Given the description of an element on the screen output the (x, y) to click on. 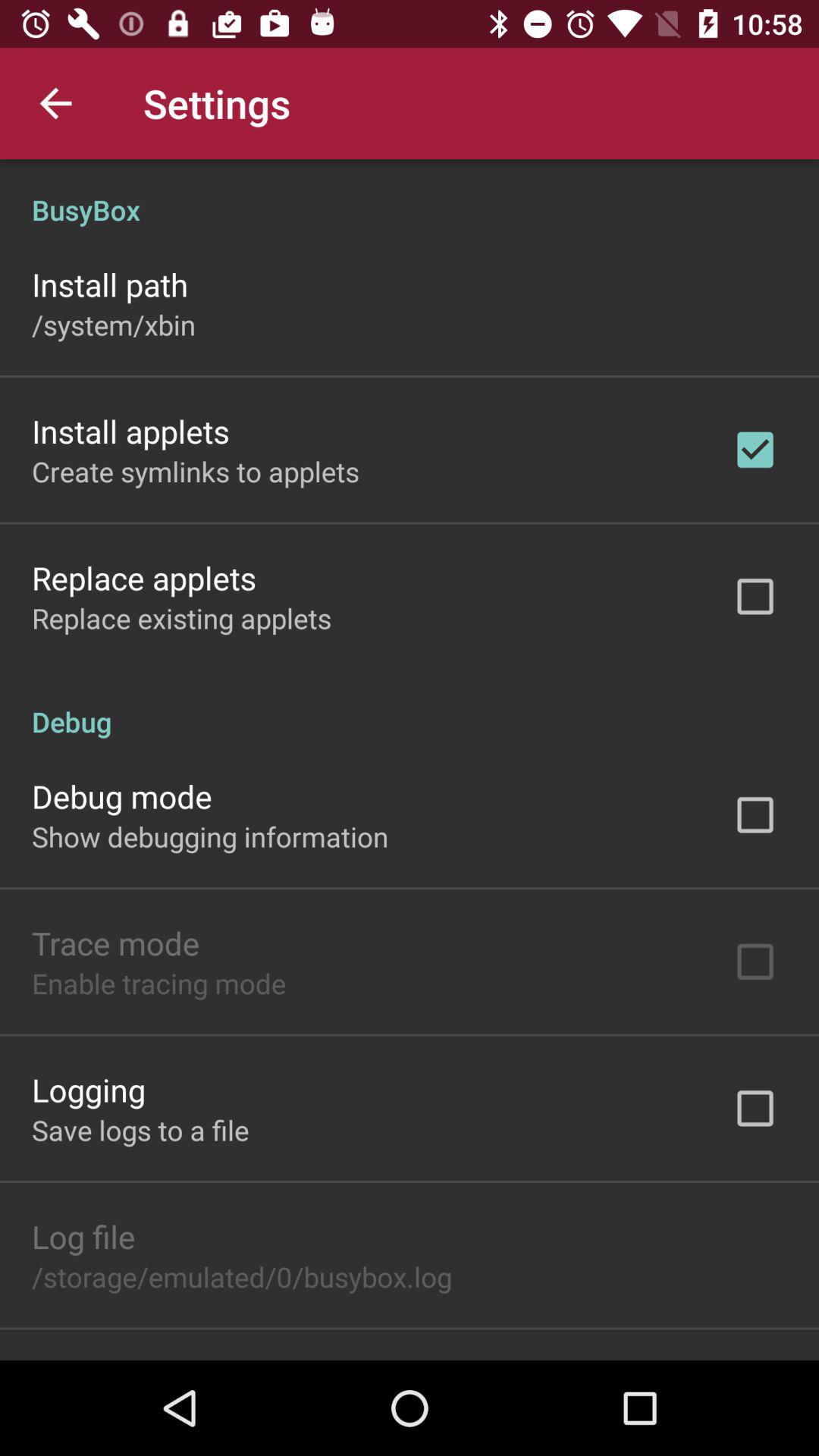
swipe until the install path icon (109, 283)
